Given the description of an element on the screen output the (x, y) to click on. 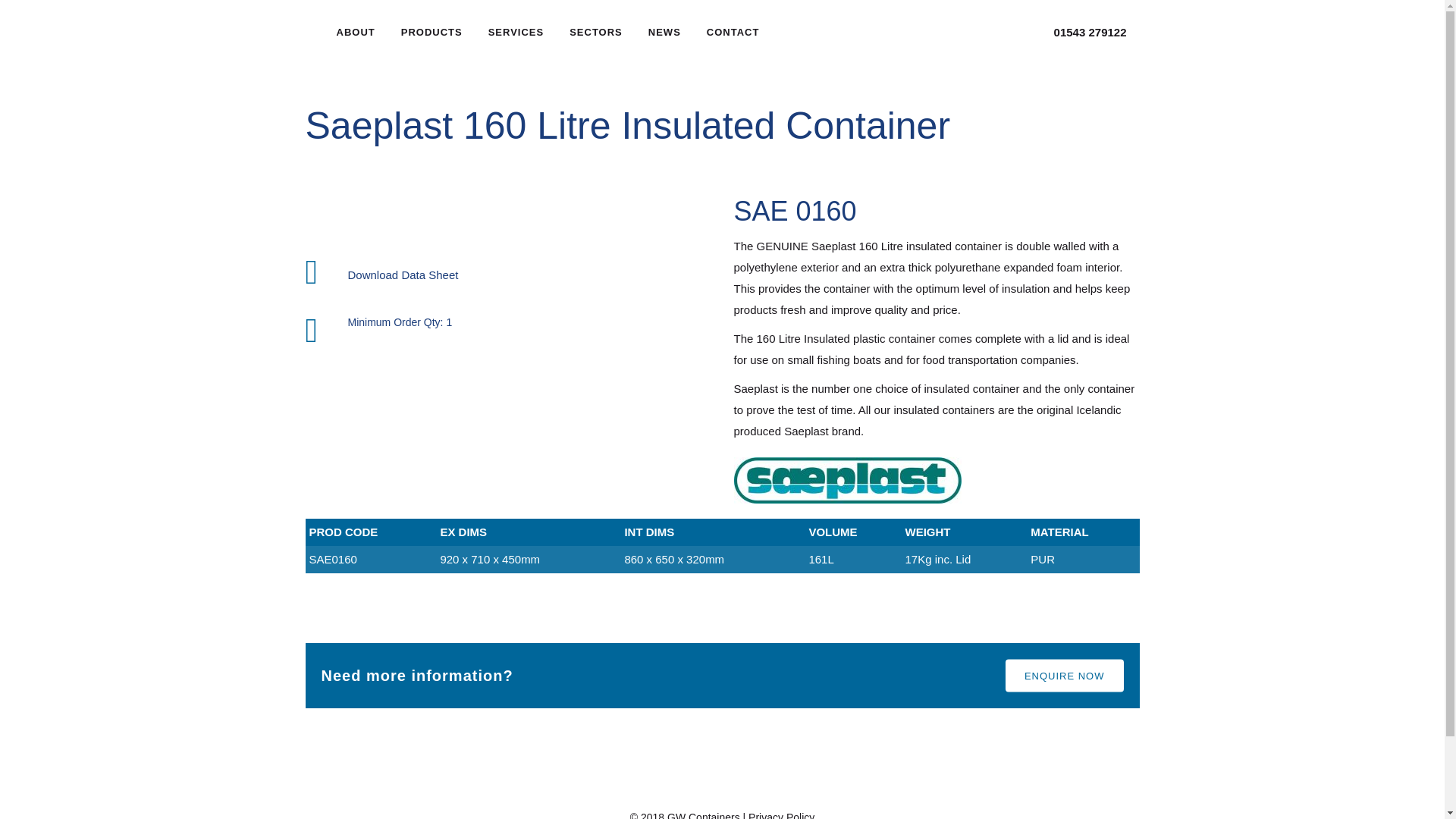
SECTORS (595, 32)
SERVICES (516, 32)
PRODUCTS (432, 32)
ENQUIRE NOW (1065, 676)
CONTACT (733, 32)
ABOUT (355, 32)
Privacy Policy (780, 815)
Download Data Sheet (402, 275)
NEWS (664, 32)
